Given the description of an element on the screen output the (x, y) to click on. 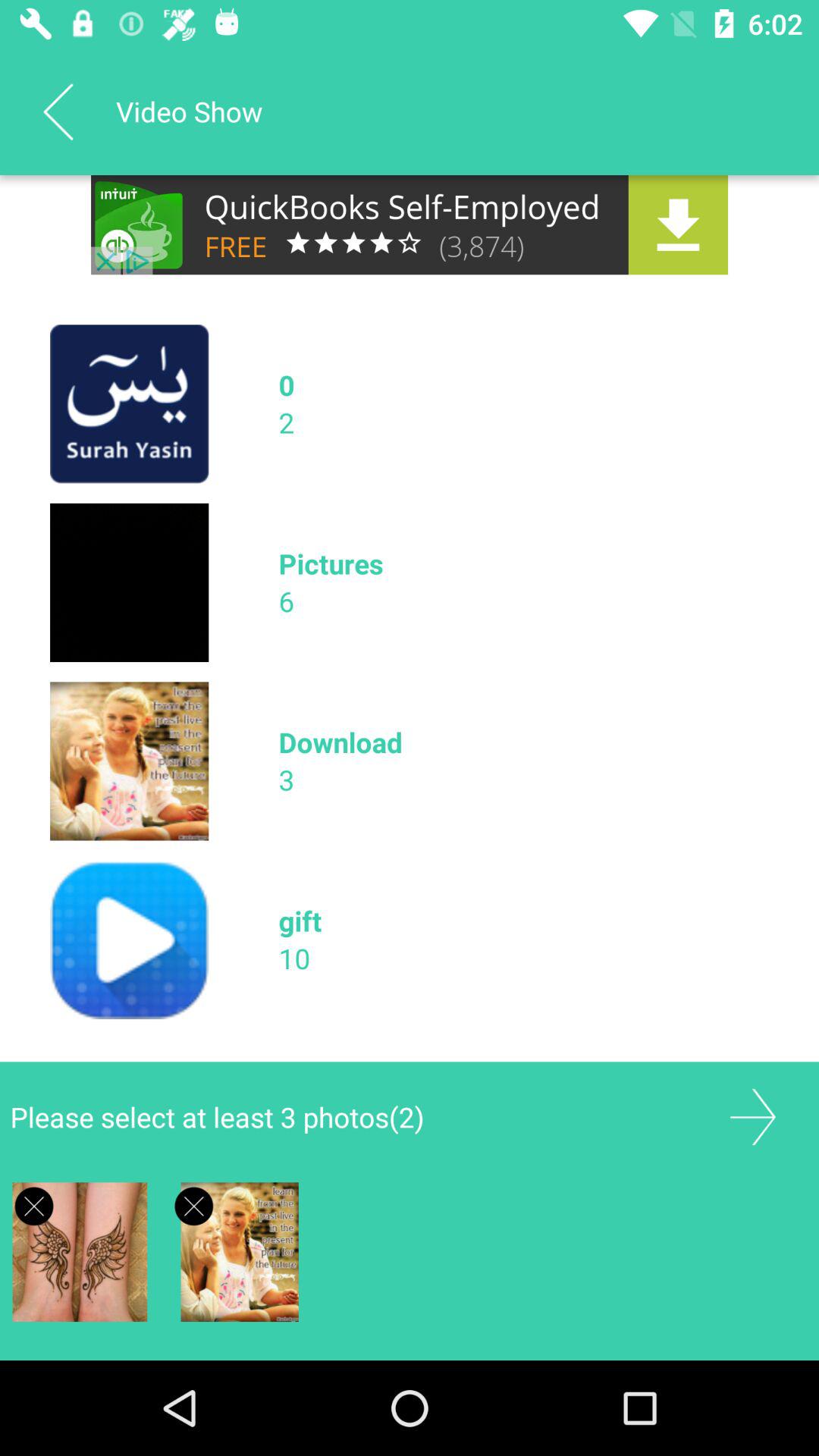
delete image (34, 1206)
